Given the description of an element on the screen output the (x, y) to click on. 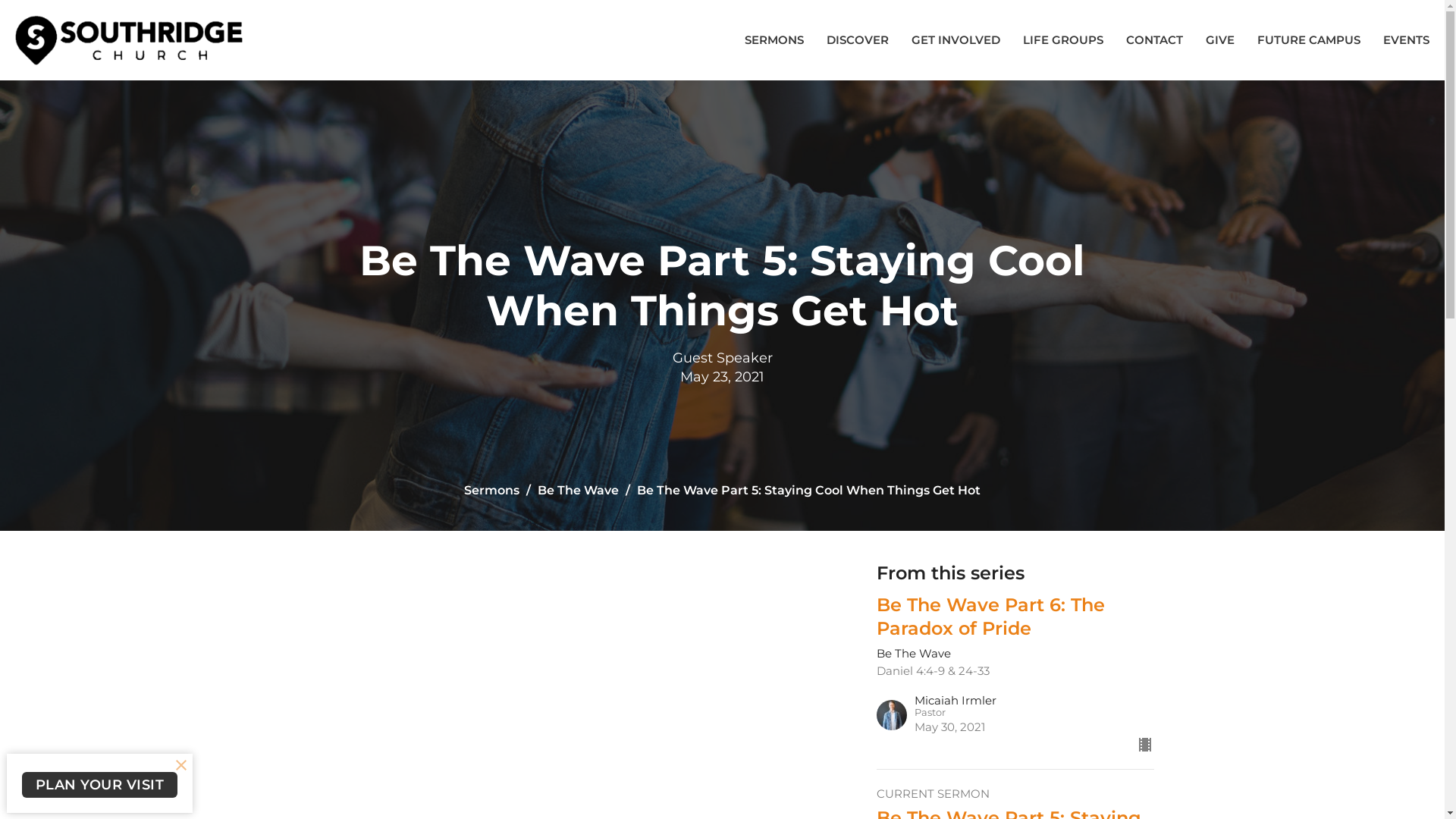
GET INVOLVED Element type: text (955, 39)
DISCOVER Element type: text (857, 39)
EVENTS Element type: text (1406, 39)
Be The Wave Element type: text (577, 490)
PLAN YOUR VISIT Element type: text (99, 784)
FUTURE CAMPUS Element type: text (1308, 39)
LIFE GROUPS Element type: text (1062, 39)
GIVE Element type: text (1219, 39)
Sermons Element type: text (491, 490)
CONTACT Element type: text (1154, 39)
SERMONS Element type: text (773, 39)
